Given the description of an element on the screen output the (x, y) to click on. 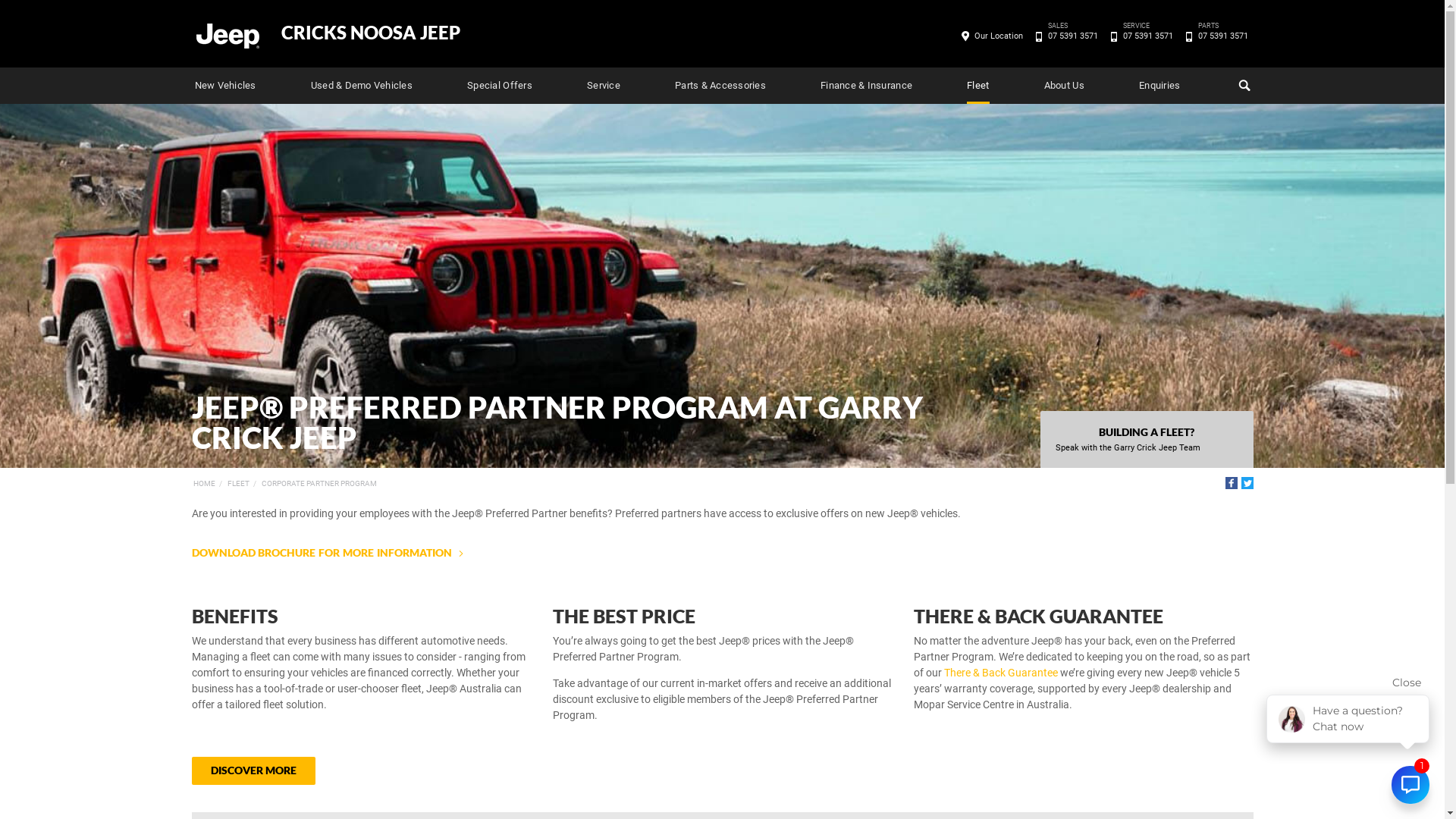
About Us Element type: text (1064, 85)
Our Location Element type: text (998, 35)
Enquiries Element type: text (1159, 85)
PARTS
07 5391 3571 Element type: text (1222, 35)
Cricks Noosa Jeep Element type: hover (226, 34)
Service Element type: text (603, 85)
There & Back Guarantee Element type: text (1000, 672)
Special Offers Element type: text (499, 85)
CRICKS NOOSA JEEP Element type: text (369, 32)
BUILDING A FLEET?
Speak with the Garry Crick Jeep Team Element type: text (1146, 439)
Search Element type: text (1241, 85)
CORPORATE PARTNER PROGRAM Element type: text (318, 483)
Twitter Element type: hover (1246, 482)
SERVICE
07 5391 3571 Element type: text (1147, 35)
HOME Element type: text (203, 483)
Fleet Element type: text (977, 85)
SALES
07 5391 3571 Element type: text (1071, 35)
Facebook Element type: hover (1231, 482)
Parts & Accessories Element type: text (719, 85)
DOWNLOAD BROCHURE FOR MORE INFORMATION Element type: text (326, 552)
Finance & Insurance Element type: text (866, 85)
Used & Demo Vehicles Element type: text (361, 85)
FLEET Element type: text (238, 483)
DISCOVER MORE Element type: text (252, 770)
New Vehicles Element type: text (224, 85)
